Given the description of an element on the screen output the (x, y) to click on. 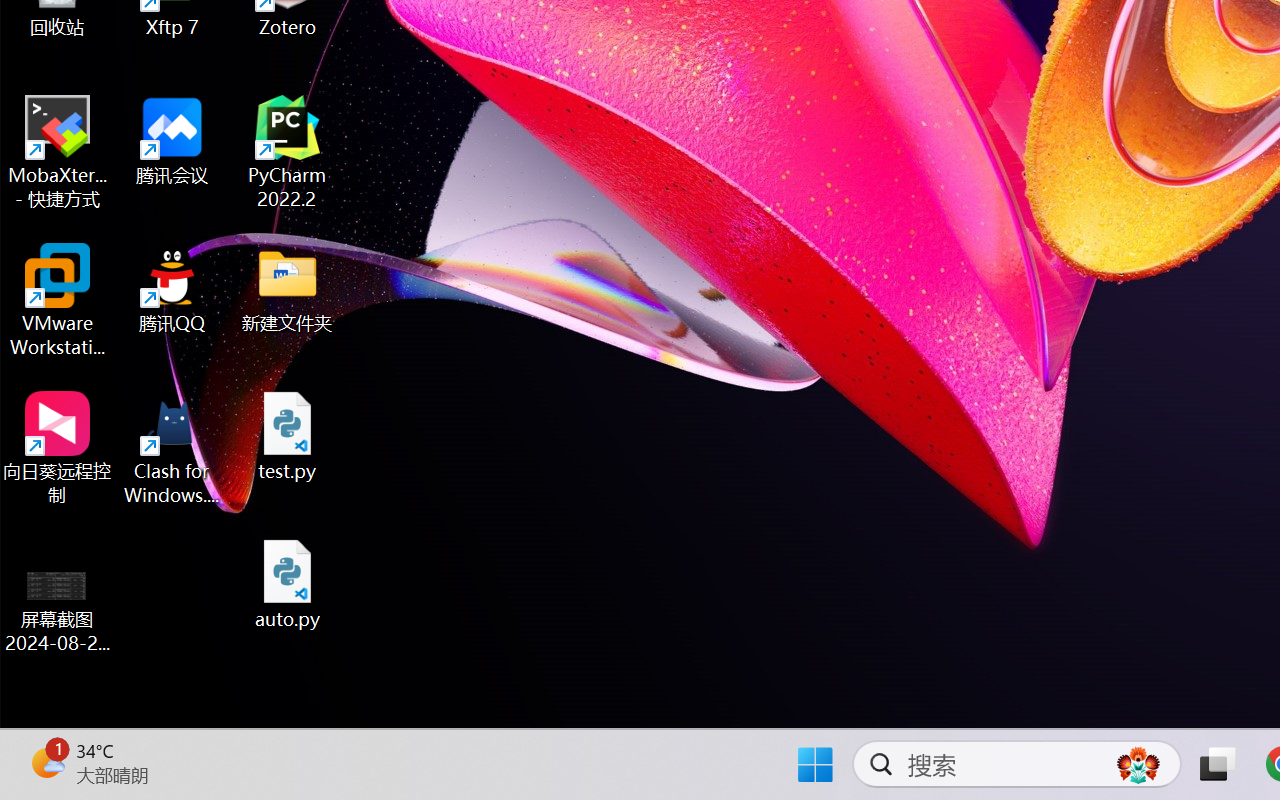
auto.py (287, 584)
PyCharm 2022.2 (287, 152)
test.py (287, 436)
VMware Workstation Pro (57, 300)
